Given the description of an element on the screen output the (x, y) to click on. 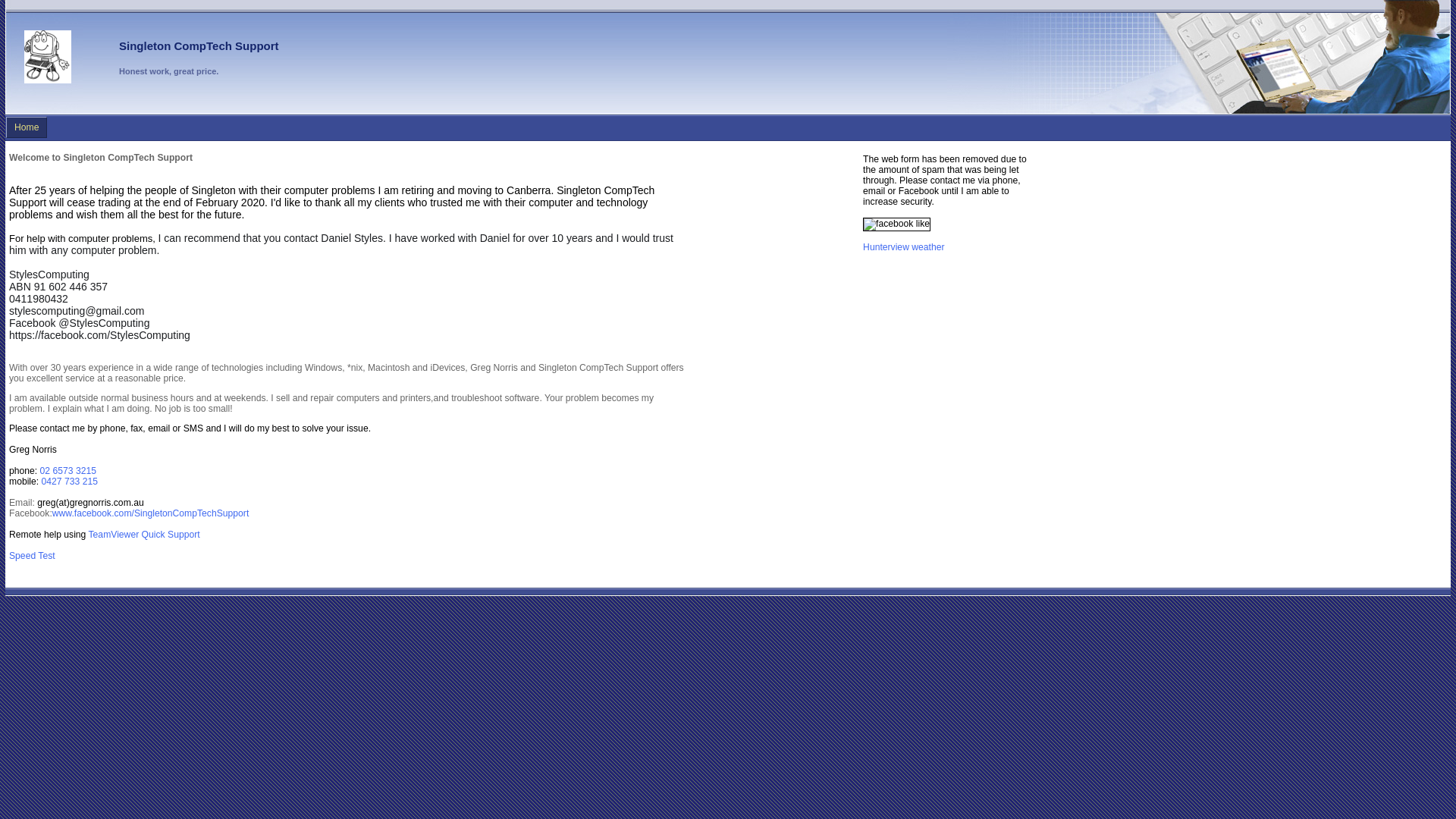
Hunterview weather Element type: text (903, 246)
02 6573 3215 Element type: text (68, 470)
: Element type: text (32, 502)
www.facebook.com/SingletonCompTechSupport Element type: text (150, 513)
Speed Test Element type: text (32, 555)
: Element type: text (50, 513)
Home Element type: text (26, 127)
0427 733 215 Element type: text (69, 481)
TeamViewer Quick Support Element type: text (144, 534)
